Given the description of an element on the screen output the (x, y) to click on. 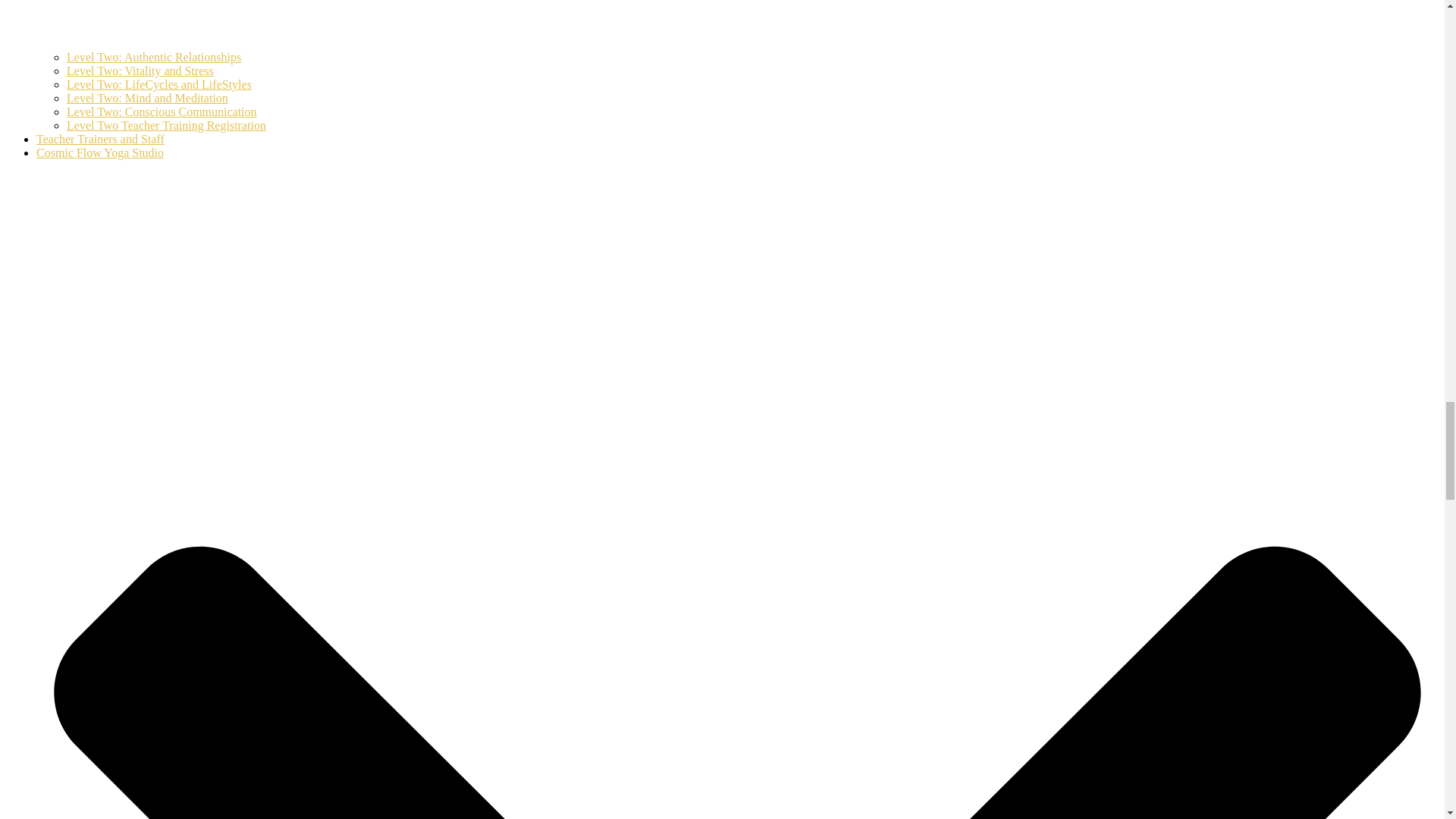
Level Two Teacher Training Registration (166, 124)
Level Two: Mind and Meditation (147, 97)
Teacher Trainers and Staff (100, 138)
Level Two: Vitality and Stress (140, 70)
Level Two: Vitality and Stress (140, 70)
Level Two: Authentic Relationships (153, 56)
Level Two: Authentic Relationships (153, 56)
Level Two: Conscious Communication (161, 111)
Level Two: LifeCycles and LifeStyles (158, 83)
Level Two Teacher Training Registration (166, 124)
Level Two: Mind and Meditation (147, 97)
Teacher Trainers and Staff (100, 138)
Level Two: LifeCycles and LifeStyles (158, 83)
Level Two: Conscious Communication (161, 111)
